Given the description of an element on the screen output the (x, y) to click on. 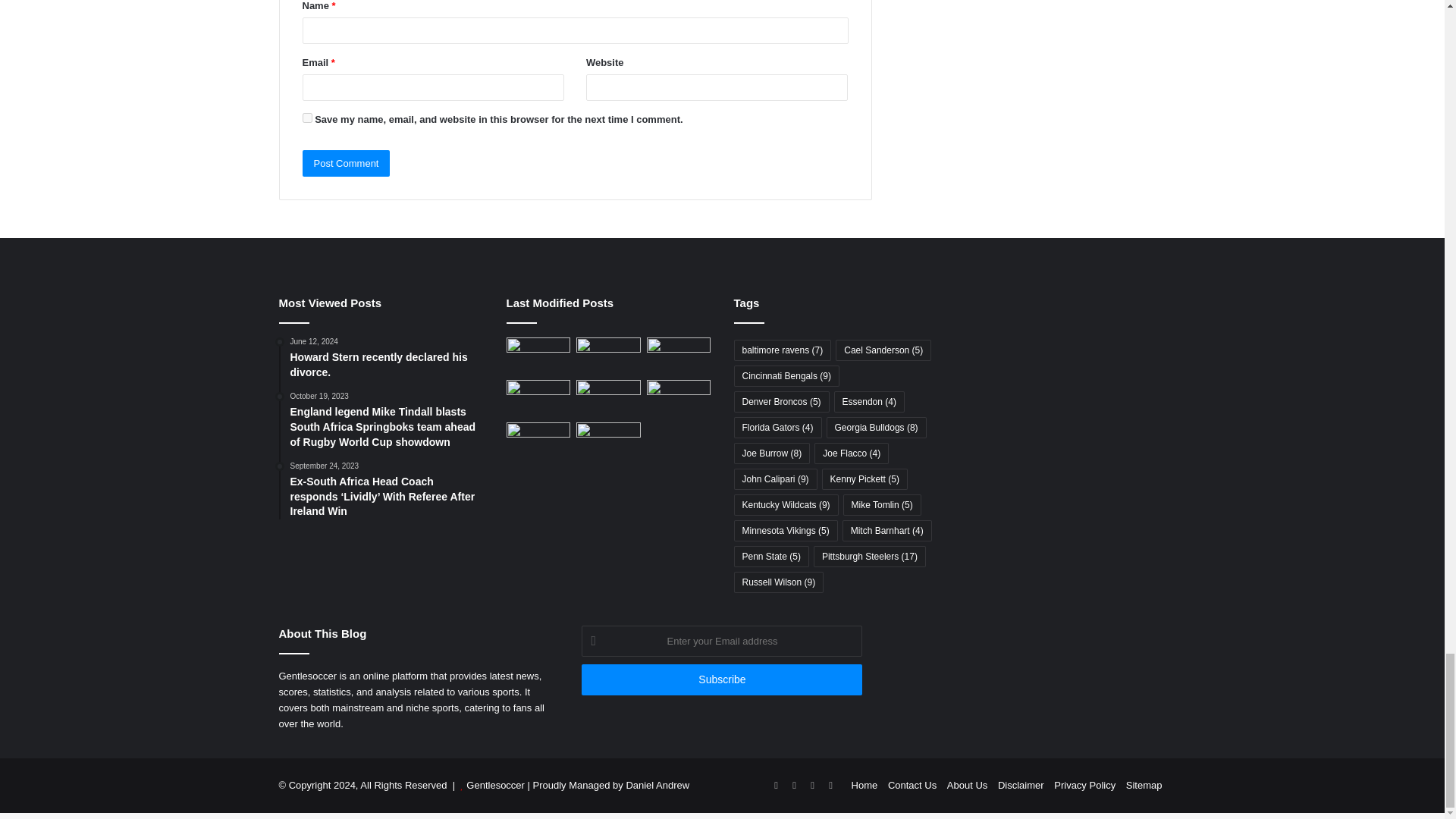
Subscribe (720, 679)
Post Comment (345, 162)
yes (306, 117)
